Given the description of an element on the screen output the (x, y) to click on. 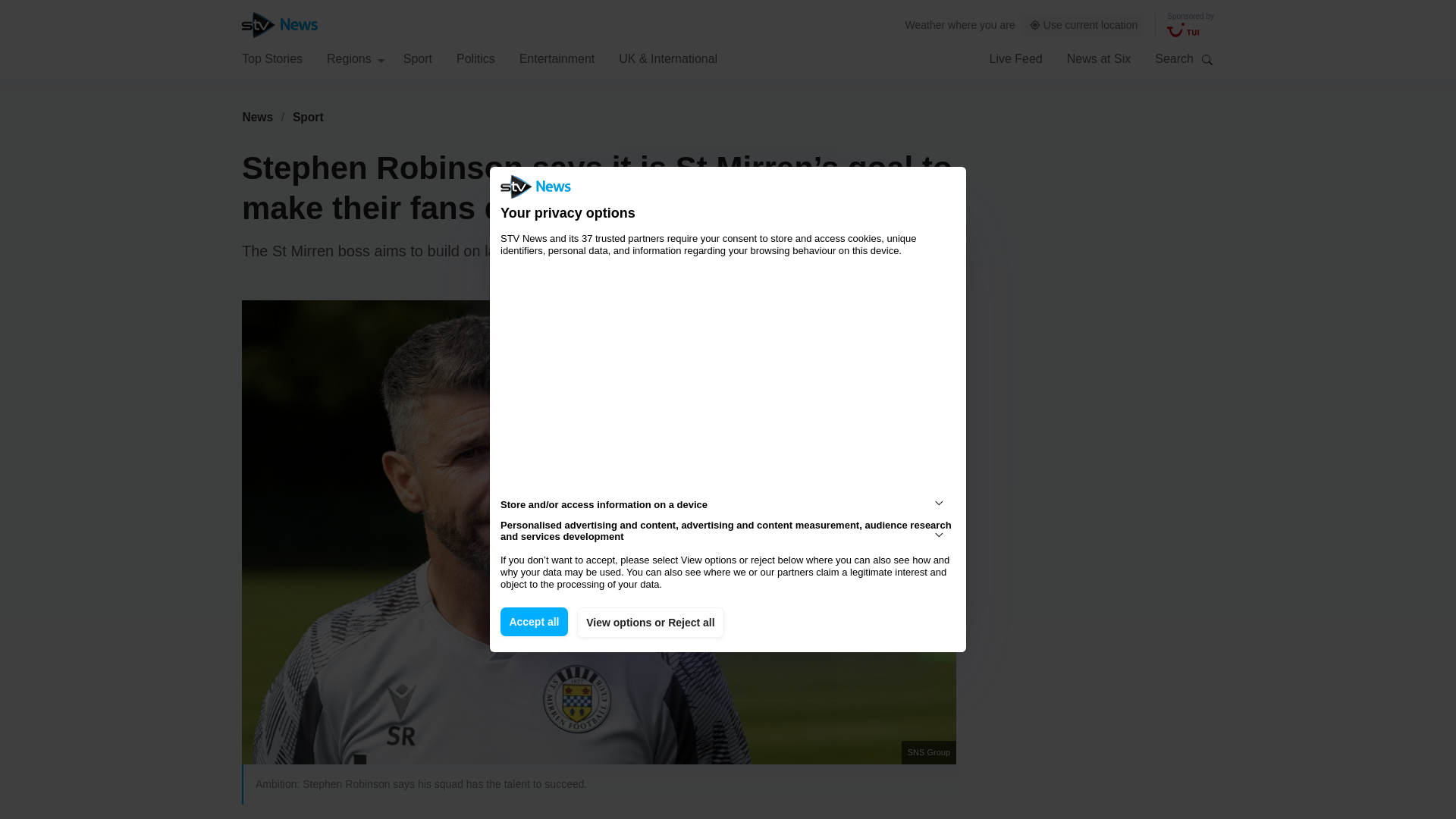
Search (1206, 59)
Top Stories (271, 57)
Politics (476, 57)
Weather (924, 24)
Sport (308, 116)
News (257, 116)
Use current location (1083, 25)
Regions (355, 57)
Entertainment (557, 57)
Live Feed (1015, 57)
News at Six (1099, 57)
